Given the description of an element on the screen output the (x, y) to click on. 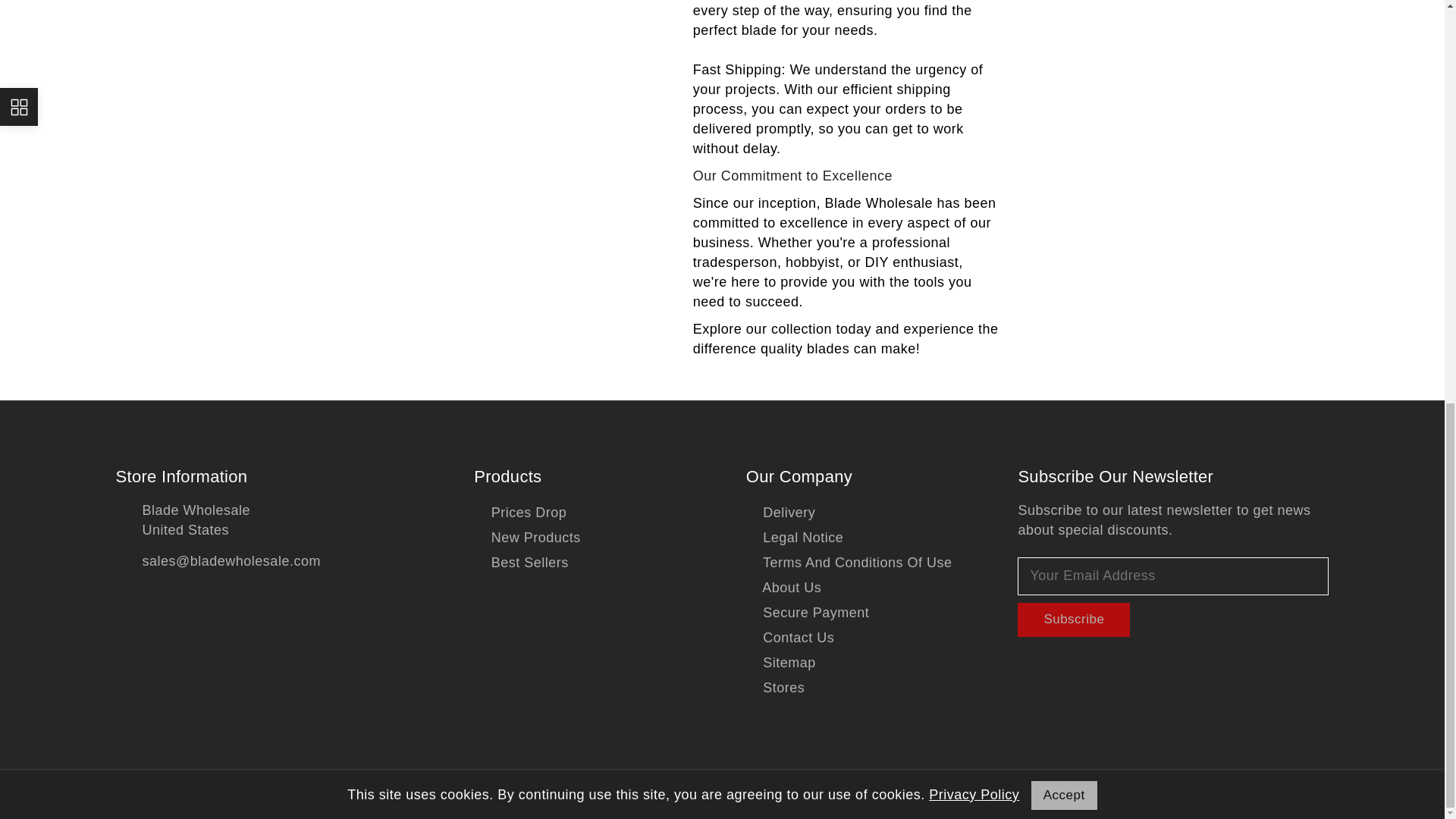
Our new products (527, 537)
Subscribe (1073, 619)
Our terms and conditions of use (848, 562)
Lost ? Find what your are looking for (780, 662)
Use our form to contact us (789, 637)
Our special products (520, 512)
Our best sales (521, 562)
Legal notice (794, 537)
Our secure payment method (807, 612)
Our terms and conditions of delivery (780, 512)
